Given the description of an element on the screen output the (x, y) to click on. 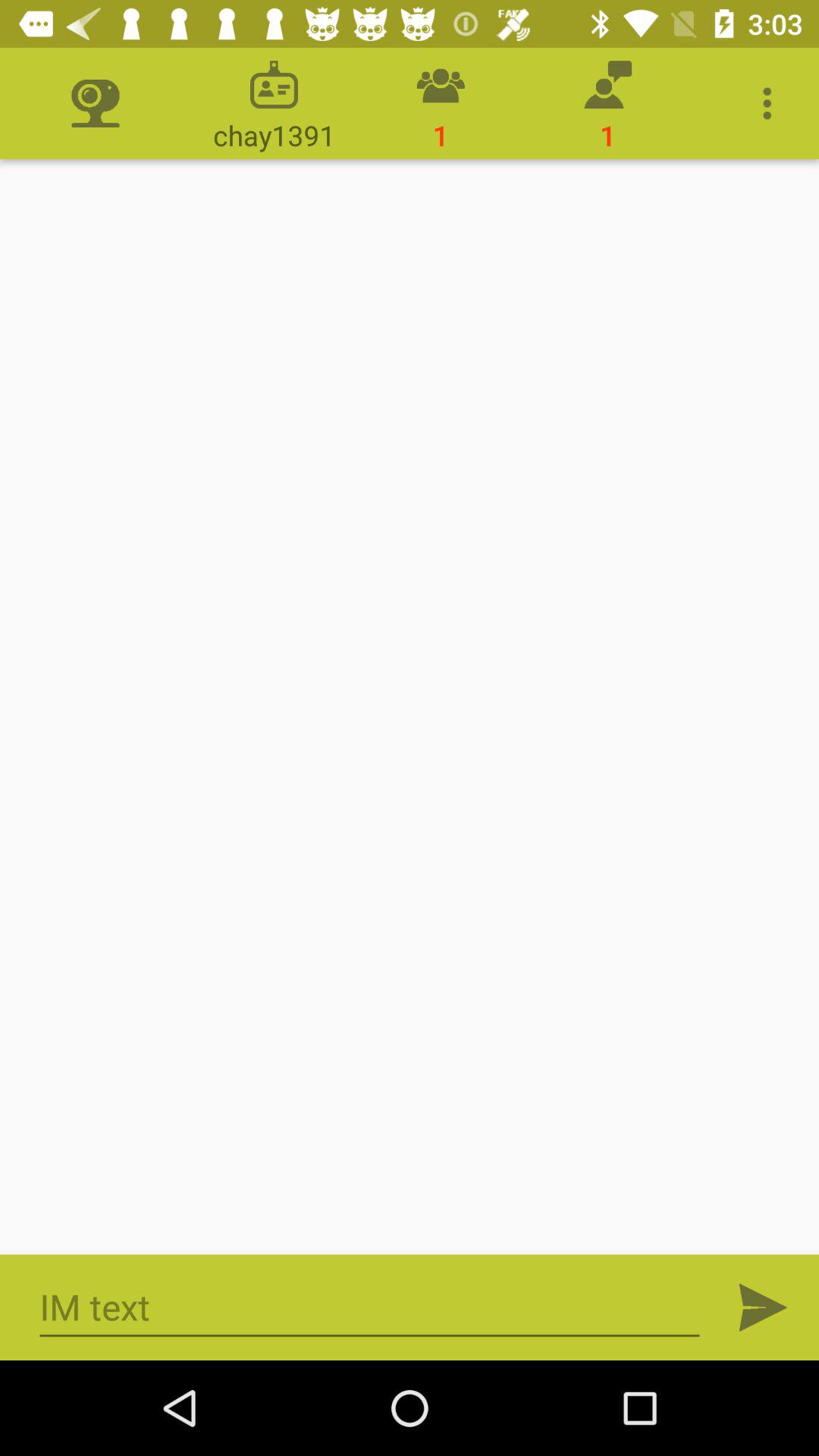
type message (369, 1307)
